Given the description of an element on the screen output the (x, y) to click on. 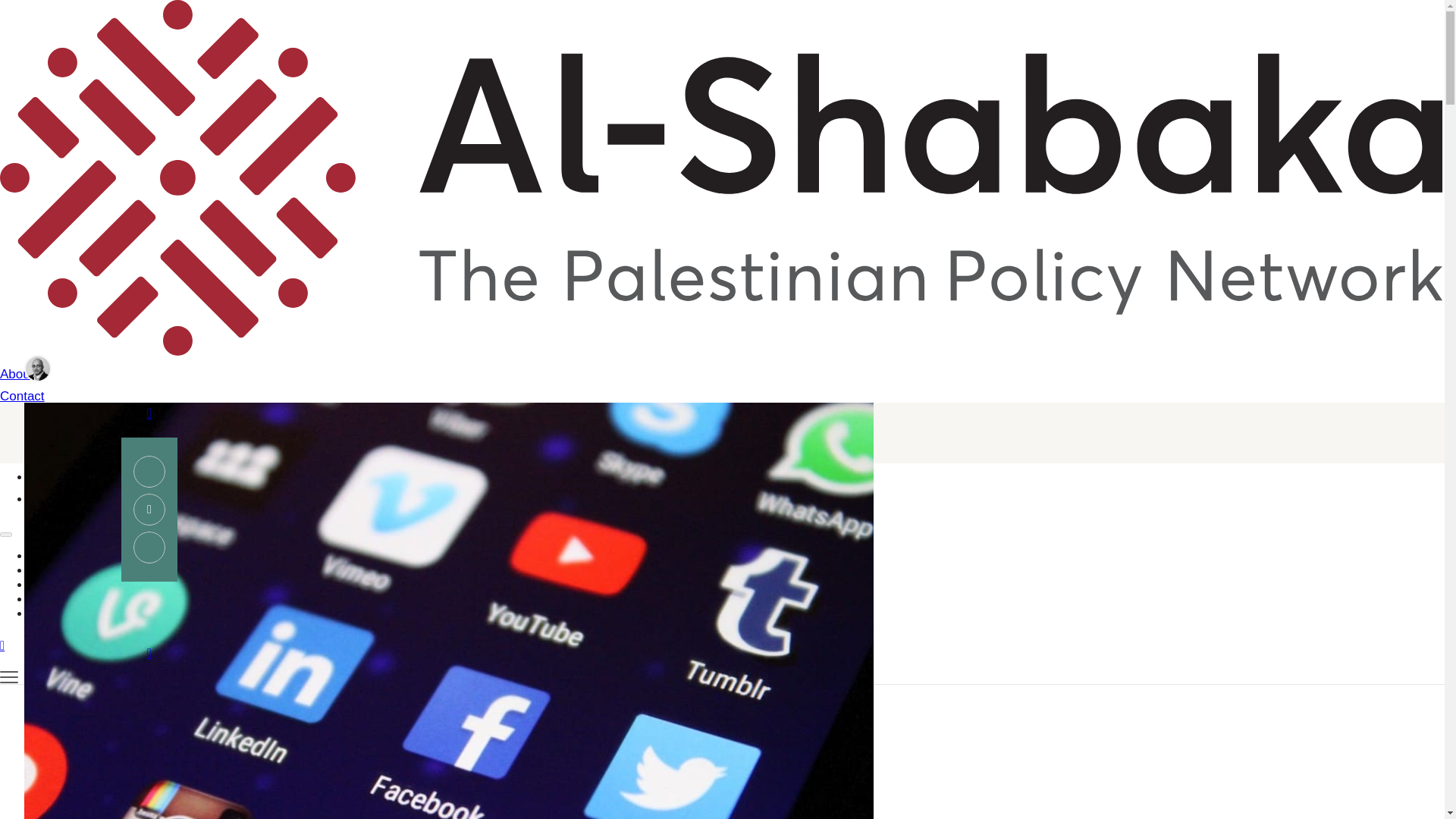
Economics (137, 730)
About (523, 374)
Policy Briefs (141, 660)
Refugees (132, 785)
Donate (523, 418)
Contact (523, 395)
English (51, 477)
Topics (62, 557)
Politics (125, 676)
Commentaries (147, 716)
Civil Society (141, 620)
EXPLORE ALL ANALYSIS (144, 620)
Subscribe (523, 441)
Policy Memos (146, 770)
